Given the description of an element on the screen output the (x, y) to click on. 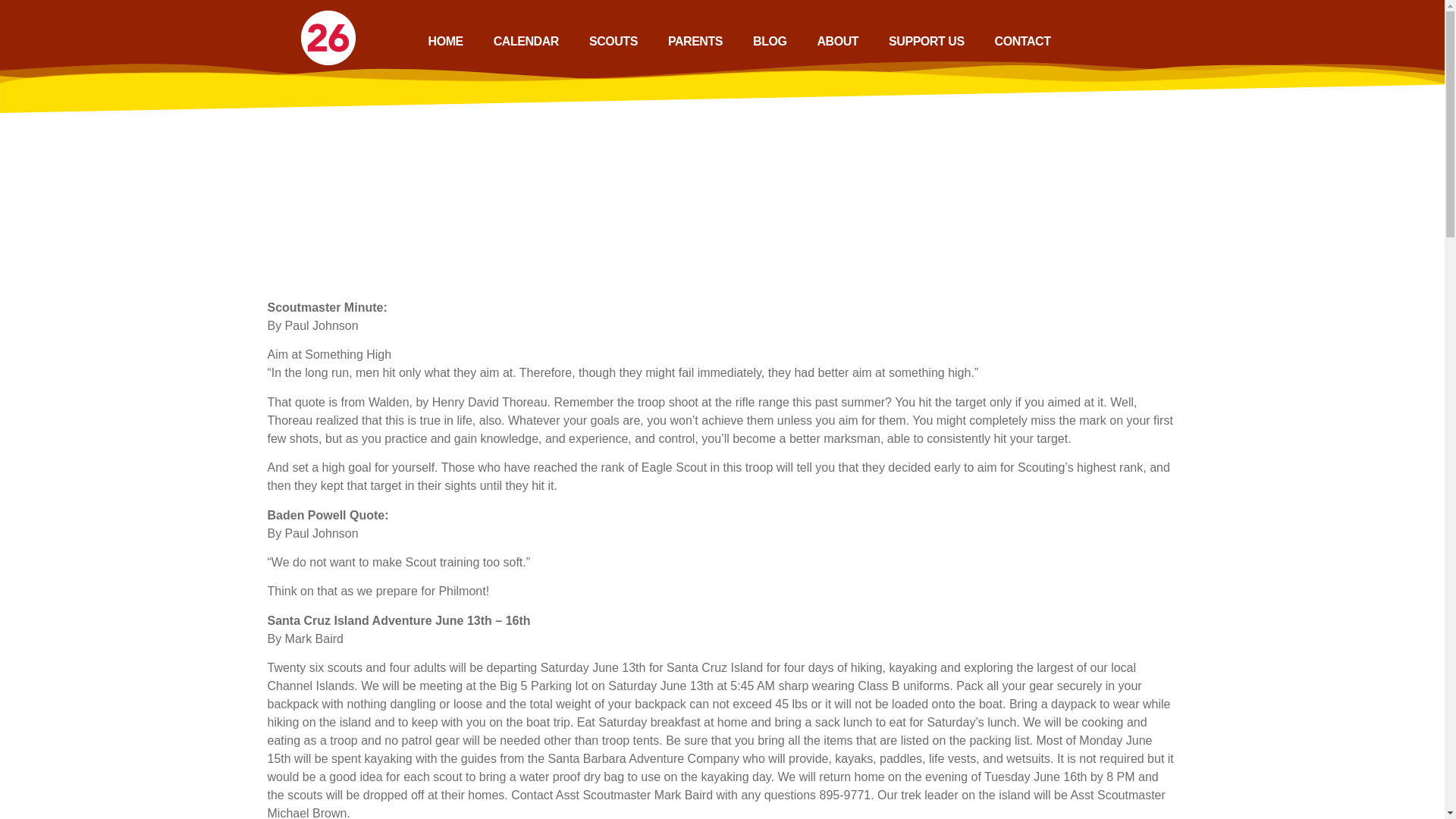
PARENTS (694, 41)
SCOUTS (613, 41)
ABOUT (836, 41)
CALENDAR (525, 41)
CONTACT (1022, 41)
SUPPORT US (926, 41)
HOME (446, 41)
cropped-troop26-icon.png (327, 37)
BLOG (769, 41)
